Given the description of an element on the screen output the (x, y) to click on. 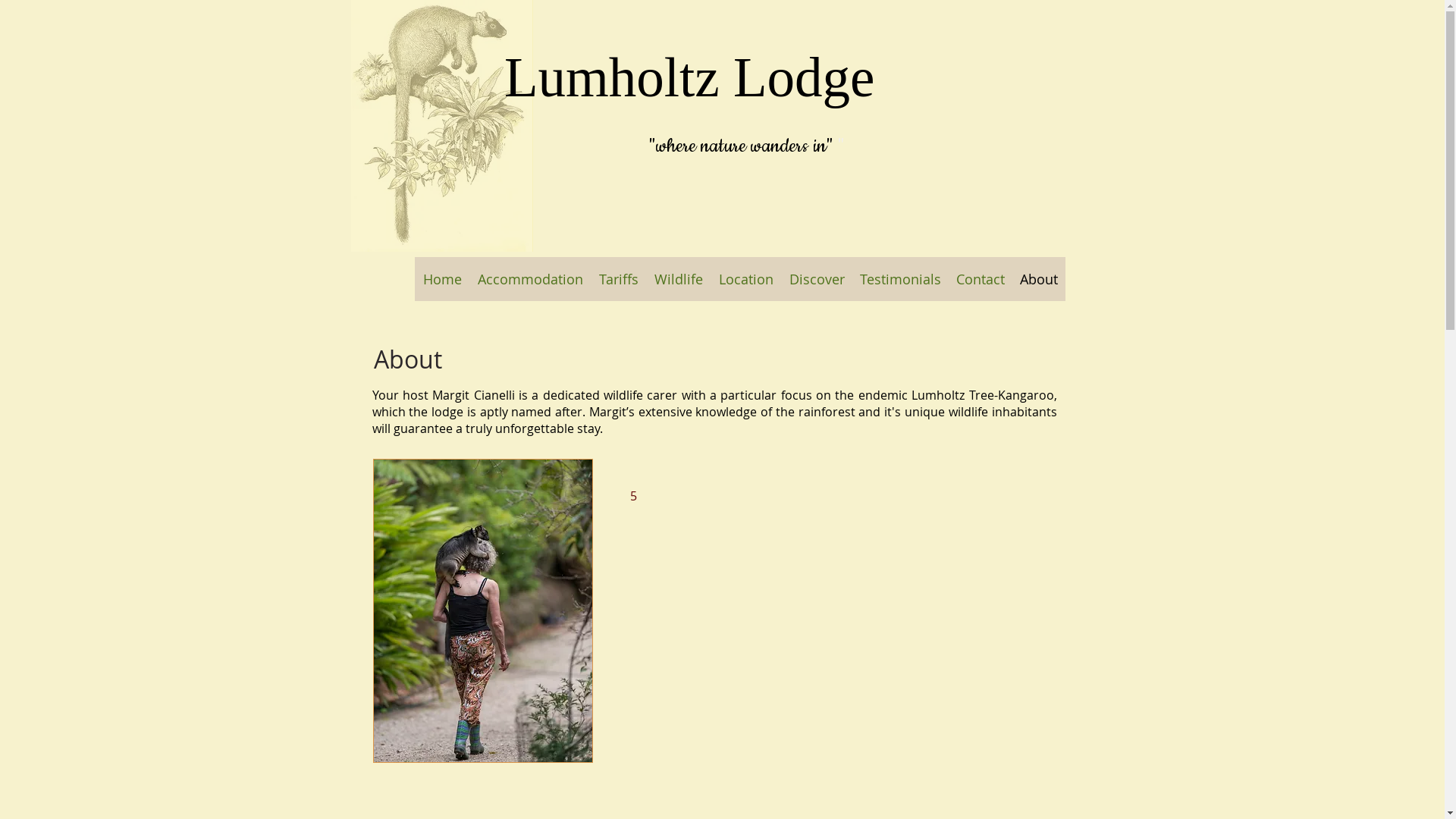
Scan dark logo.jpg Element type: hover (440, 125)
Discover Element type: text (816, 278)
Accommodation Element type: text (530, 278)
Contact Element type: text (979, 278)
About Element type: text (1037, 278)
Home Element type: text (442, 278)
Tariffs Element type: text (618, 278)
Location Element type: text (746, 278)
Testimonials Element type: text (900, 278)
Wildlife Element type: text (678, 278)
